Given the description of an element on the screen output the (x, y) to click on. 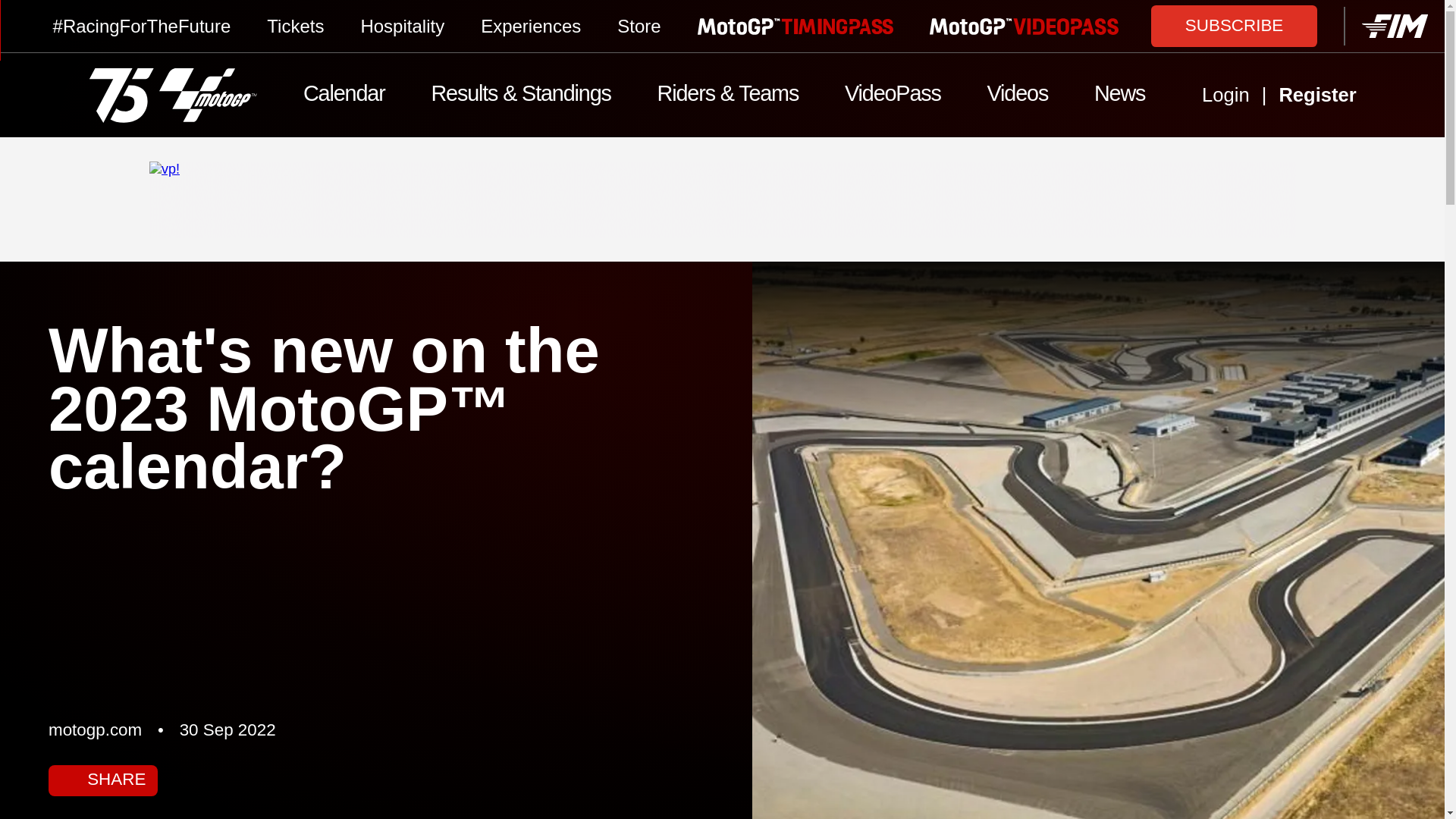
Calendar (343, 94)
VideoPass (893, 94)
Videos (1016, 94)
Store (639, 26)
News (1119, 94)
Experiences (530, 26)
SUBSCRIBE (1234, 24)
3rd party ad content (721, 199)
Tickets (294, 26)
Register (1342, 95)
